Given the description of an element on the screen output the (x, y) to click on. 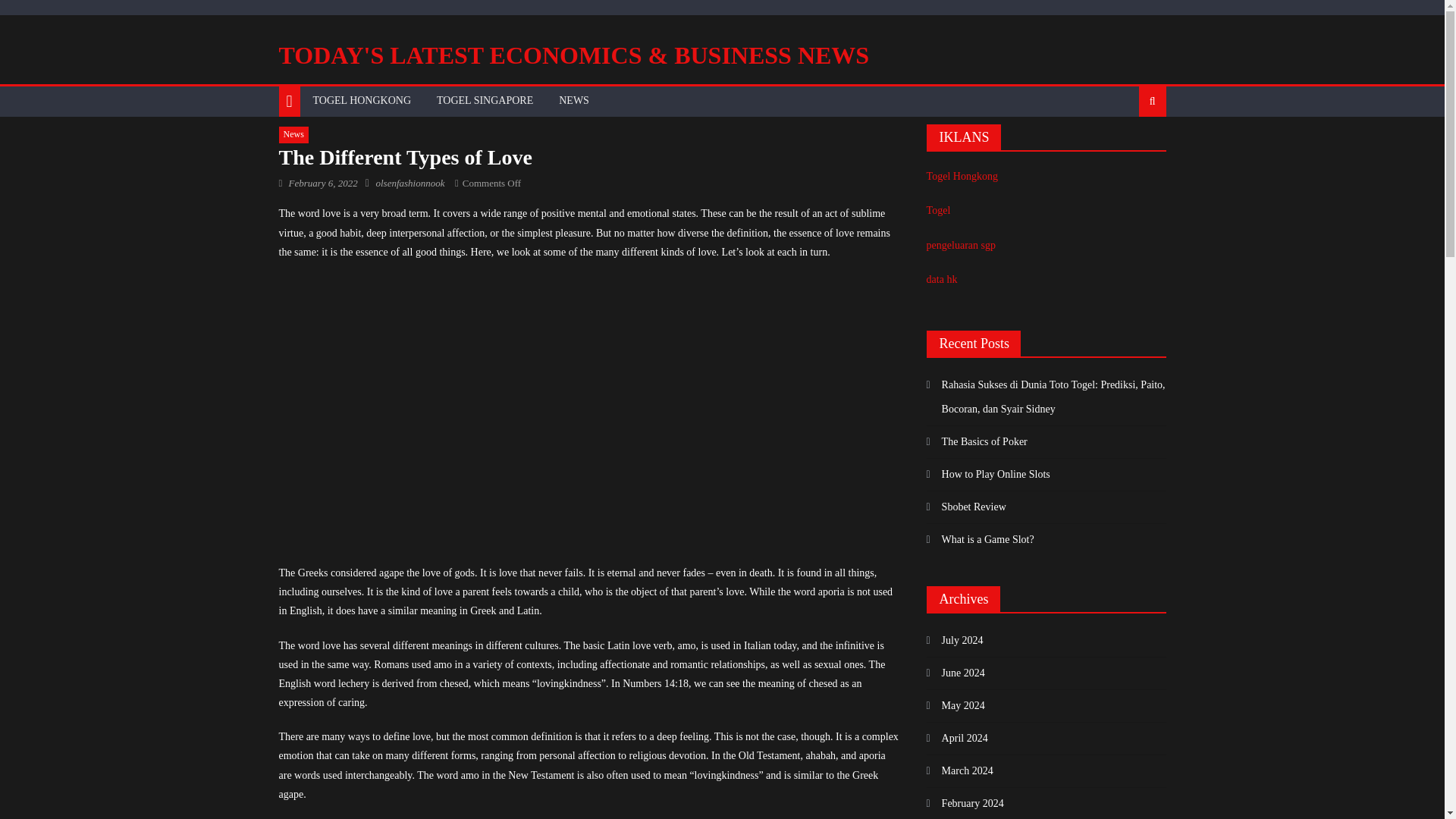
The Basics of Poker (976, 441)
olsenfashionnook (409, 183)
TOGEL HONGKONG (362, 100)
Search (1128, 150)
What is a Game Slot? (979, 539)
Togel Hongkong (961, 175)
Sbobet Review (966, 507)
How to Play Online Slots (987, 474)
News (293, 134)
February 6, 2022 (322, 183)
pengeluaran sgp (960, 244)
Togel (938, 210)
data hk (942, 279)
NEWS (573, 100)
